Given the description of an element on the screen output the (x, y) to click on. 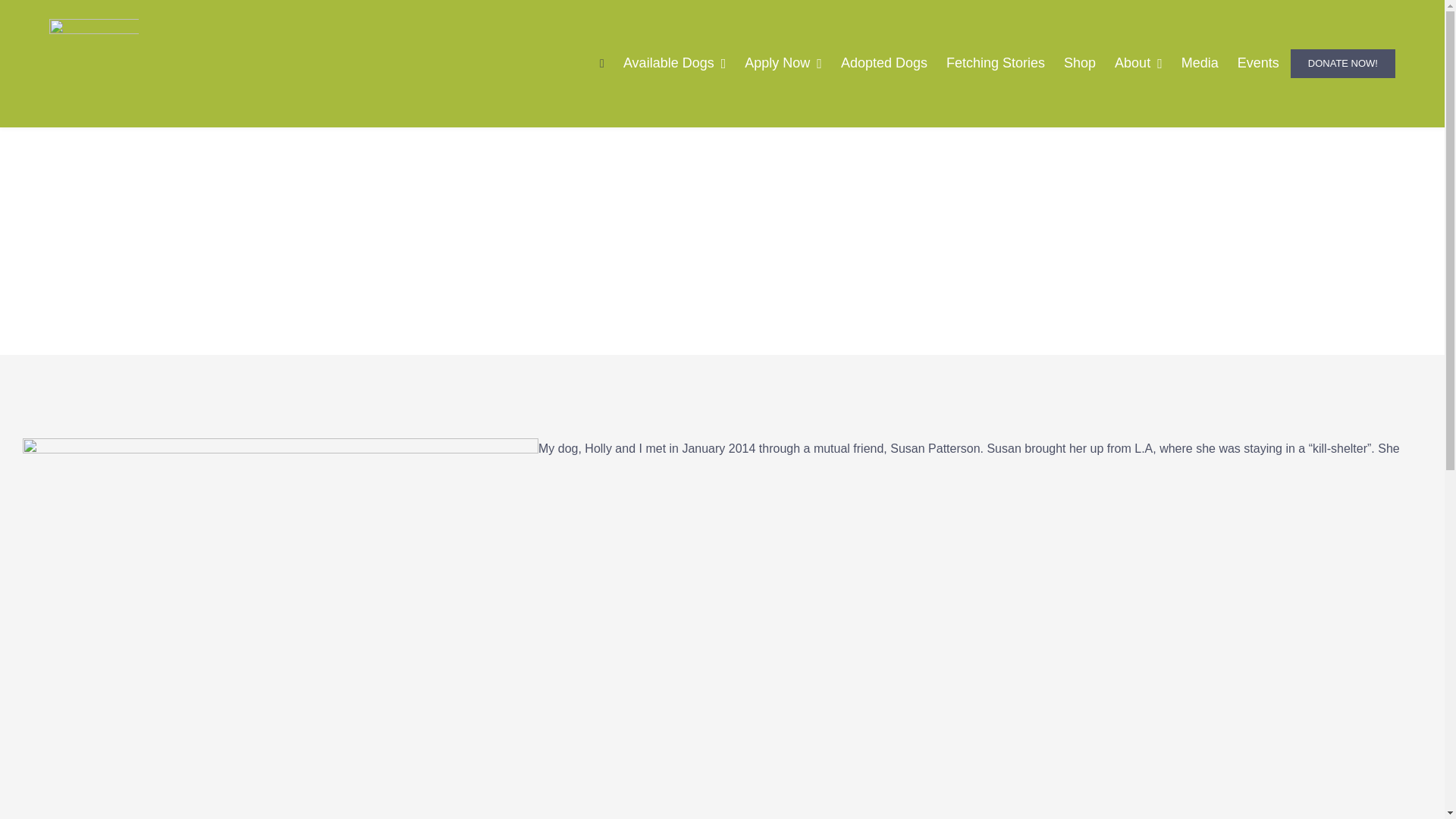
Fetching Stories (995, 63)
Shop (1080, 63)
DONATE NOW! (1342, 63)
Media (1199, 63)
TDIAO logo 2021 (93, 63)
Adopted Dogs (883, 63)
Available Dogs (674, 63)
Apply Now (782, 63)
About (1138, 63)
Events (1258, 63)
